Given the description of an element on the screen output the (x, y) to click on. 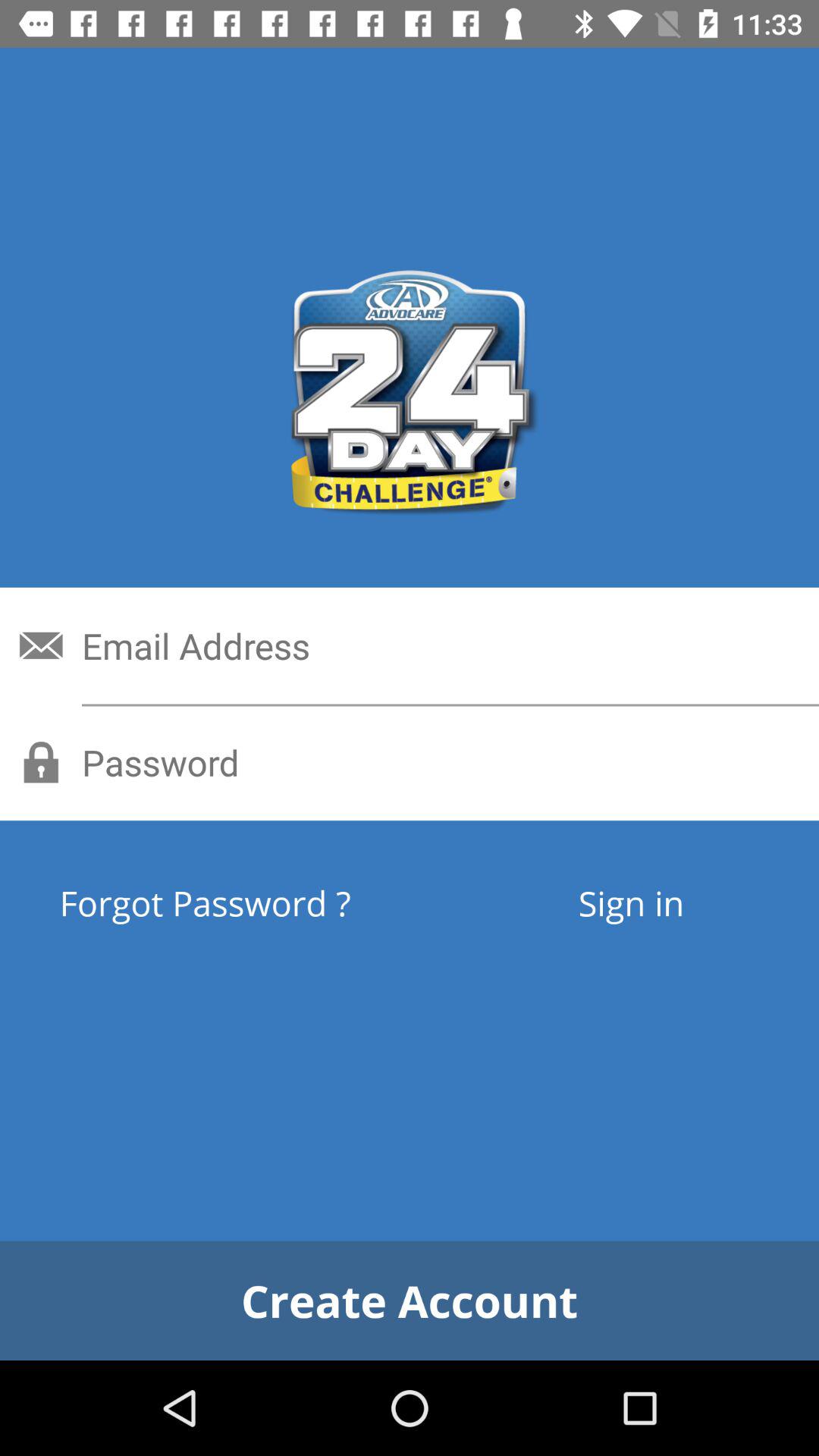
click item to the right of the forgot password ? icon (631, 902)
